Given the description of an element on the screen output the (x, y) to click on. 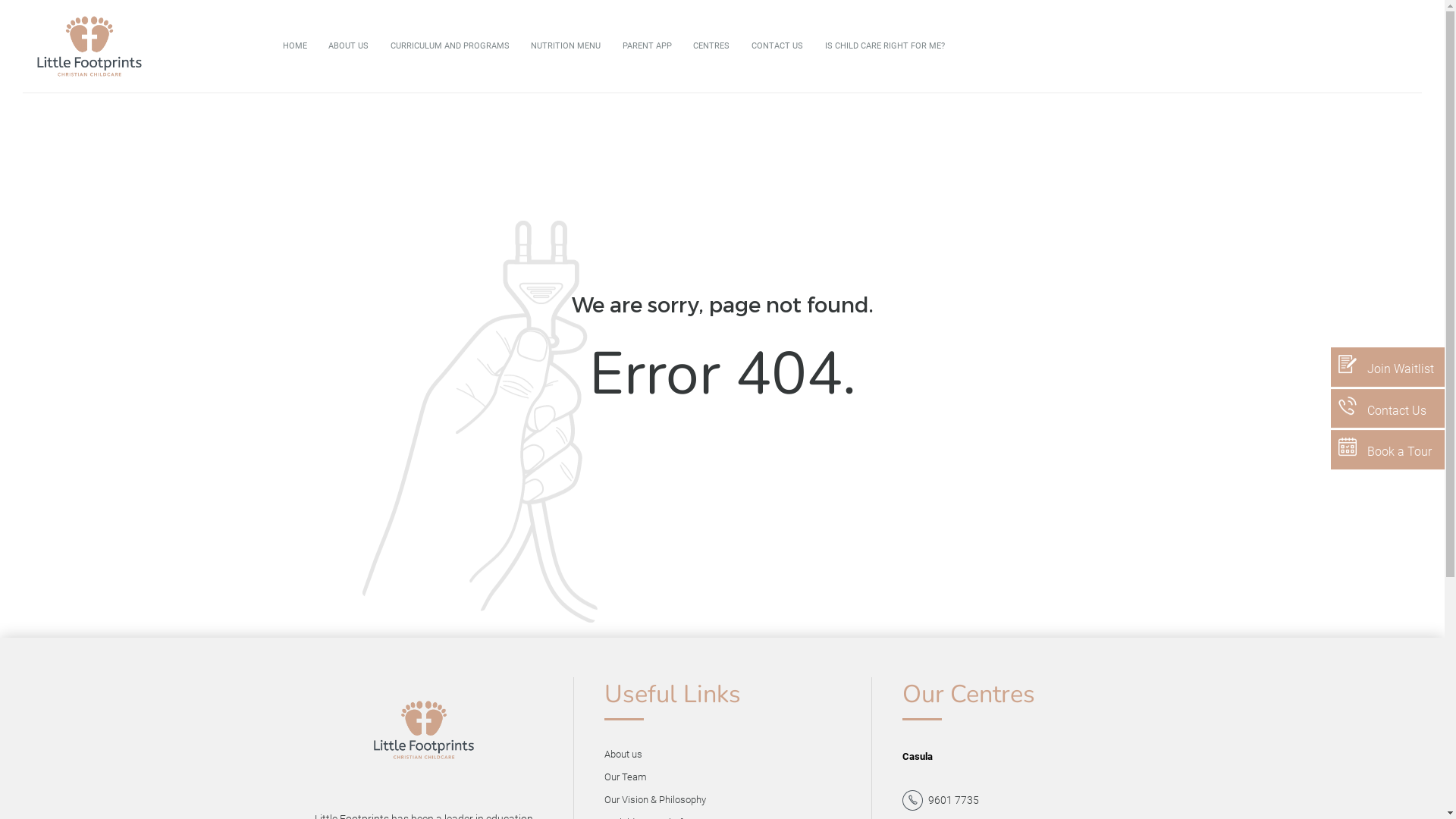
Join Waitlist Element type: text (1387, 366)
About us Element type: text (625, 753)
PARENT APP Element type: text (647, 45)
9601 7735 Element type: text (940, 800)
ABOUT US Element type: text (348, 45)
Book a Tour Element type: text (1387, 449)
HOME Element type: text (294, 45)
CENTRES Element type: text (711, 45)
CURRICULUM AND PROGRAMS Element type: text (449, 45)
Contact Us Element type: text (1387, 408)
CONTACT US Element type: text (777, 45)
NUTRITION MENU Element type: text (565, 45)
Our Vision & Philosophy Element type: text (656, 799)
Casula Element type: text (917, 756)
IS CHILD CARE RIGHT FOR ME? Element type: text (884, 45)
Our Team Element type: text (627, 776)
